Given the description of an element on the screen output the (x, y) to click on. 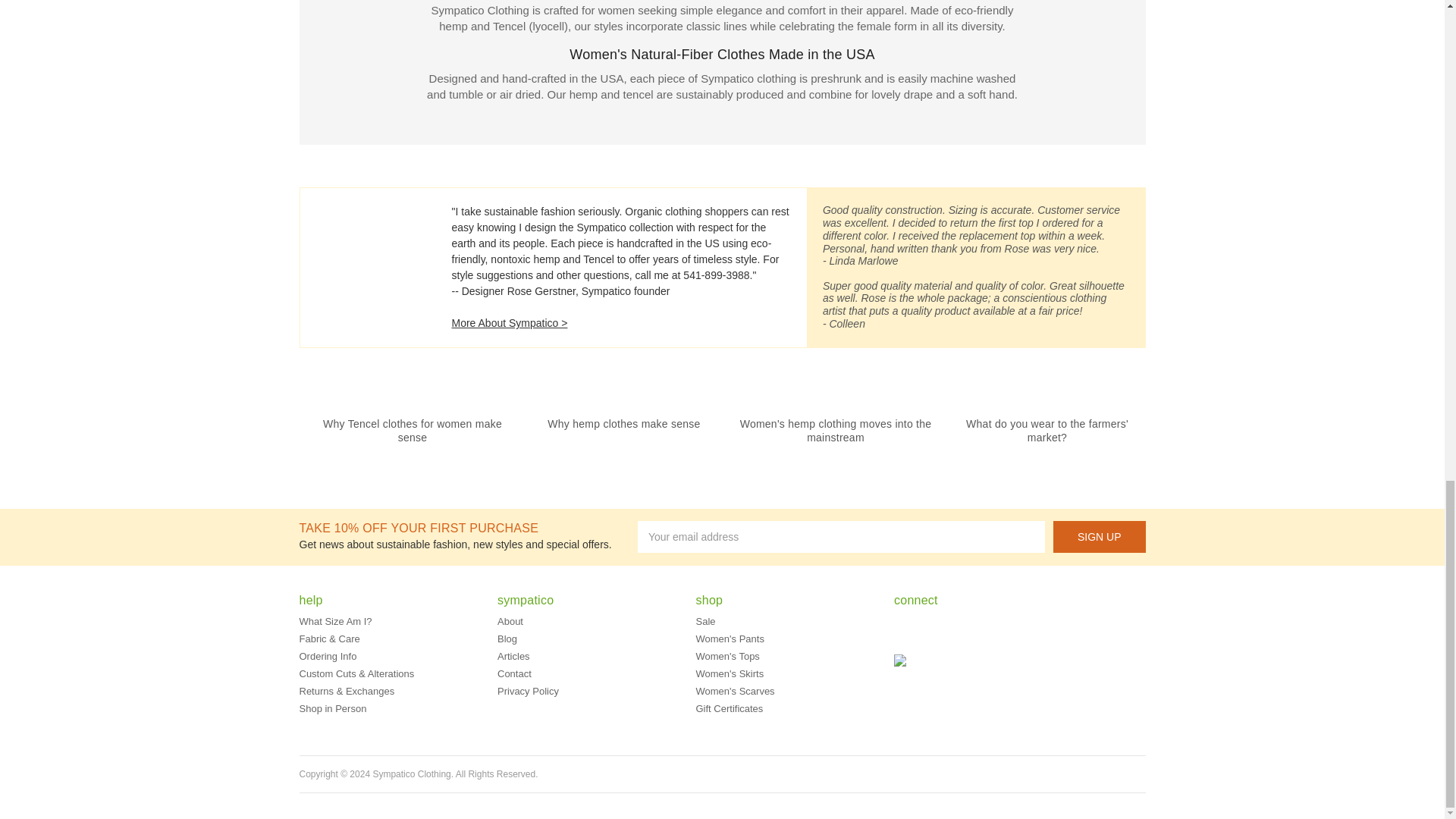
Why Tencel clothes for women make sense (412, 430)
Why hemp clothes make sense (623, 423)
Sign Up (1098, 536)
